Given the description of an element on the screen output the (x, y) to click on. 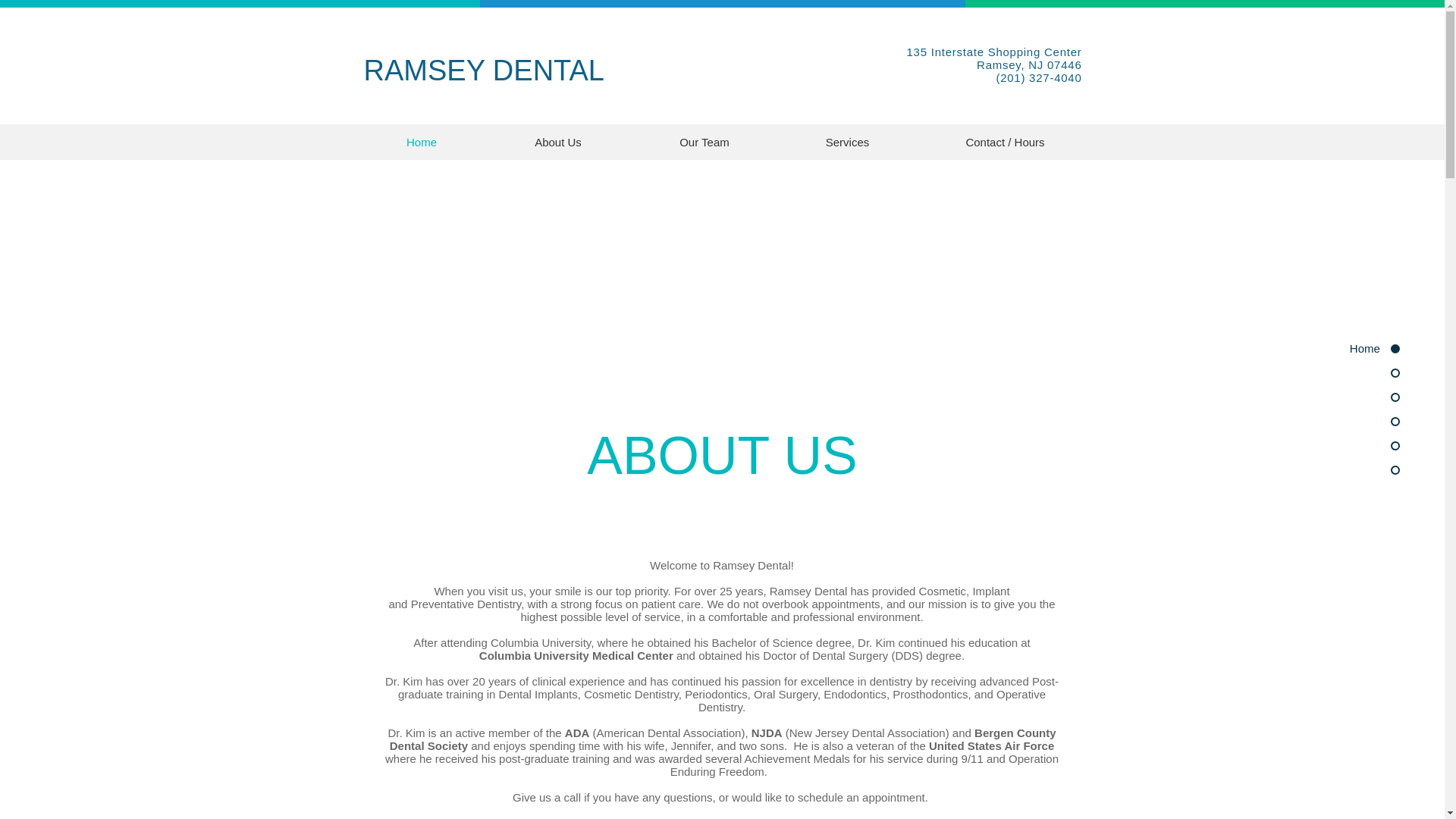
Services (846, 141)
135 Interstate Shopping Center (994, 51)
Ramsey, NJ 07446 (1028, 64)
Home (1342, 348)
RAMSEY DENTAL (484, 70)
Home (422, 141)
About Us (557, 141)
Our Team (704, 141)
